Given the description of an element on the screen output the (x, y) to click on. 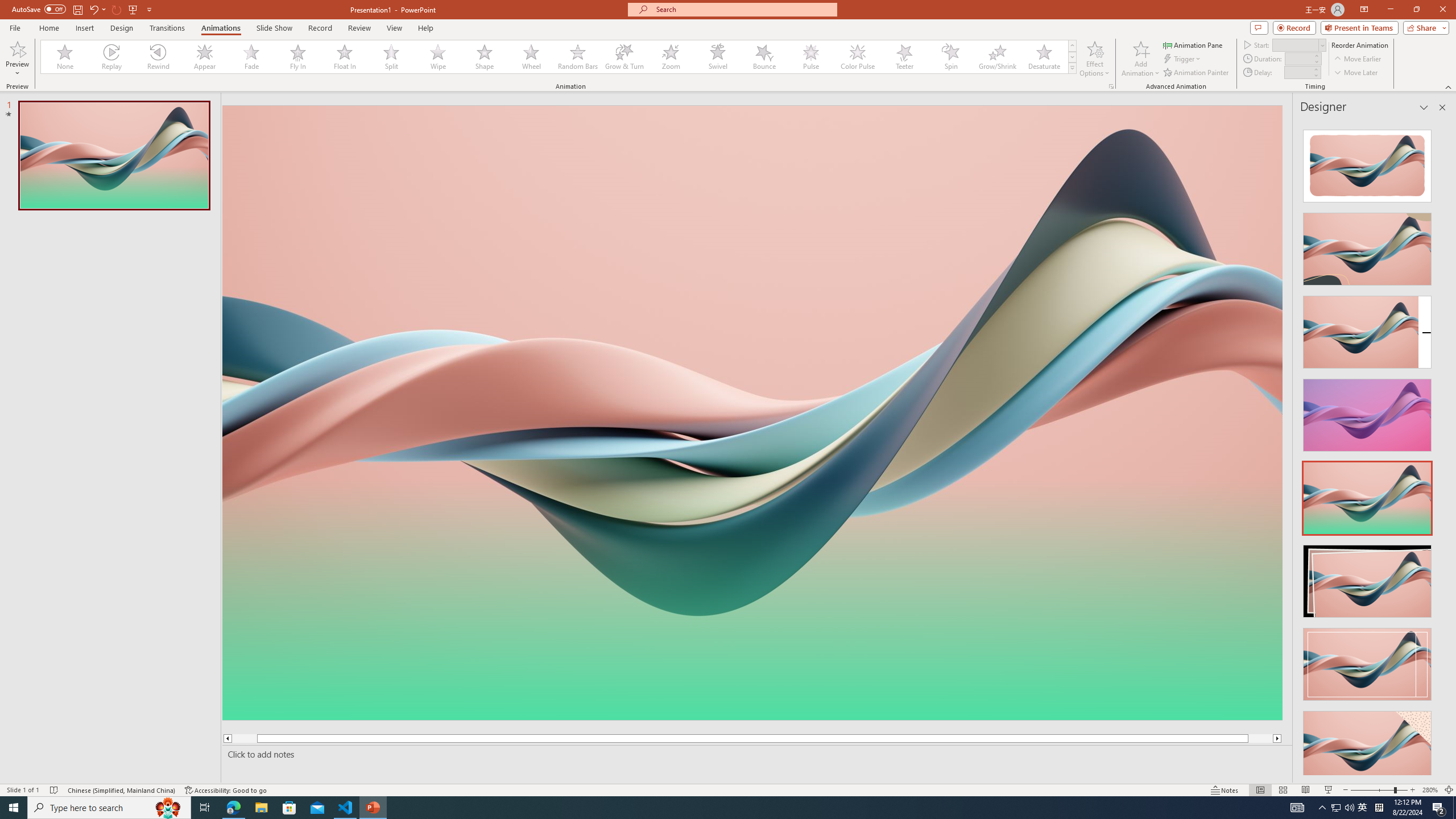
Move Later (1355, 72)
Shape (484, 56)
Spin (950, 56)
Float In (344, 56)
